Given the description of an element on the screen output the (x, y) to click on. 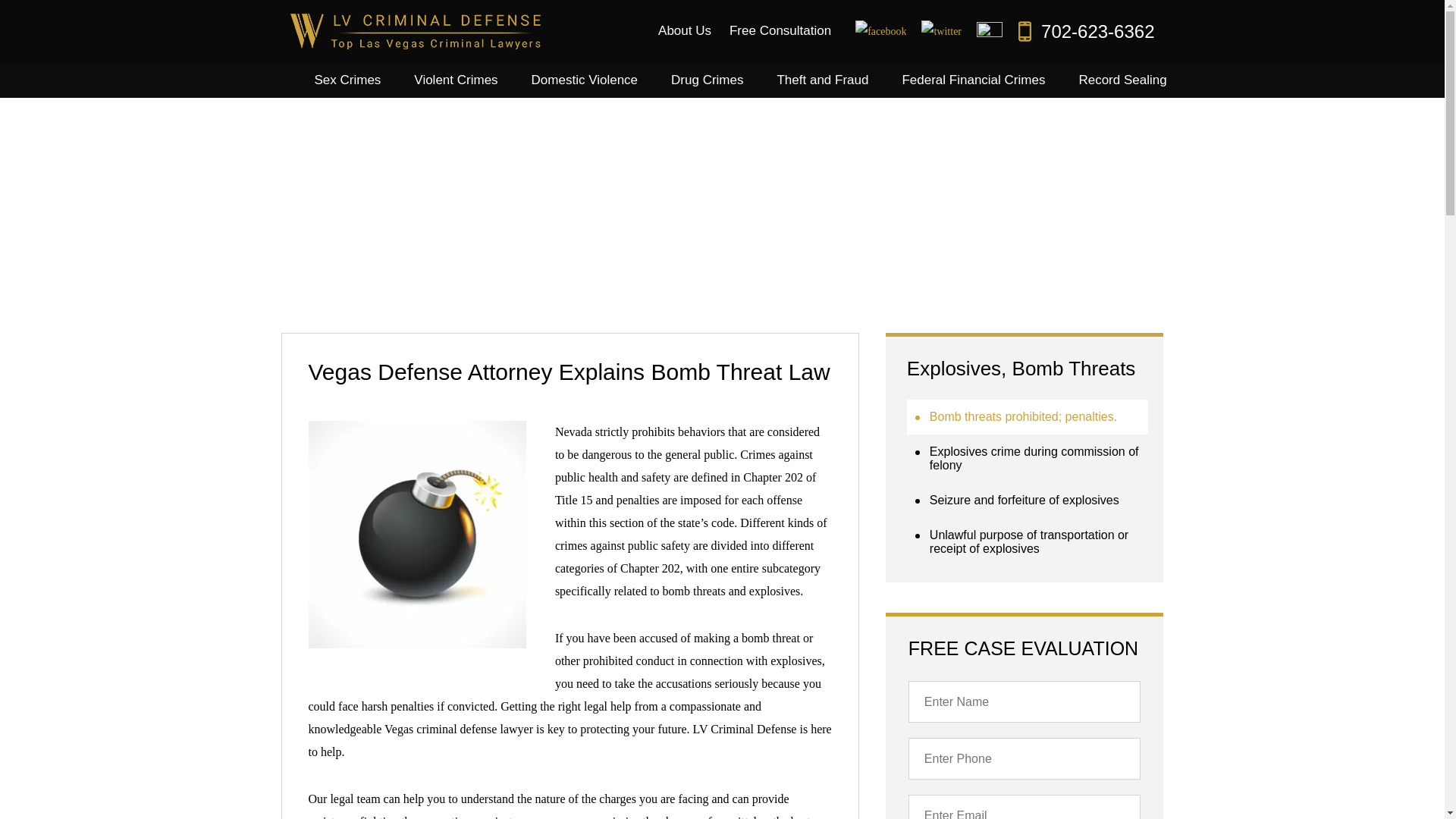
Free Consultation (780, 30)
About Us (684, 30)
702-623-6362 (1085, 31)
Domestic Violence (584, 80)
Drug Crimes (707, 80)
Go to LV Criminal Defense. (309, 247)
Sex Crimes (347, 80)
Go to Procedure in Criminal Cases. (631, 247)
Go to Nevada Criminal Process. (432, 247)
Violent Crimes (455, 80)
